Given the description of an element on the screen output the (x, y) to click on. 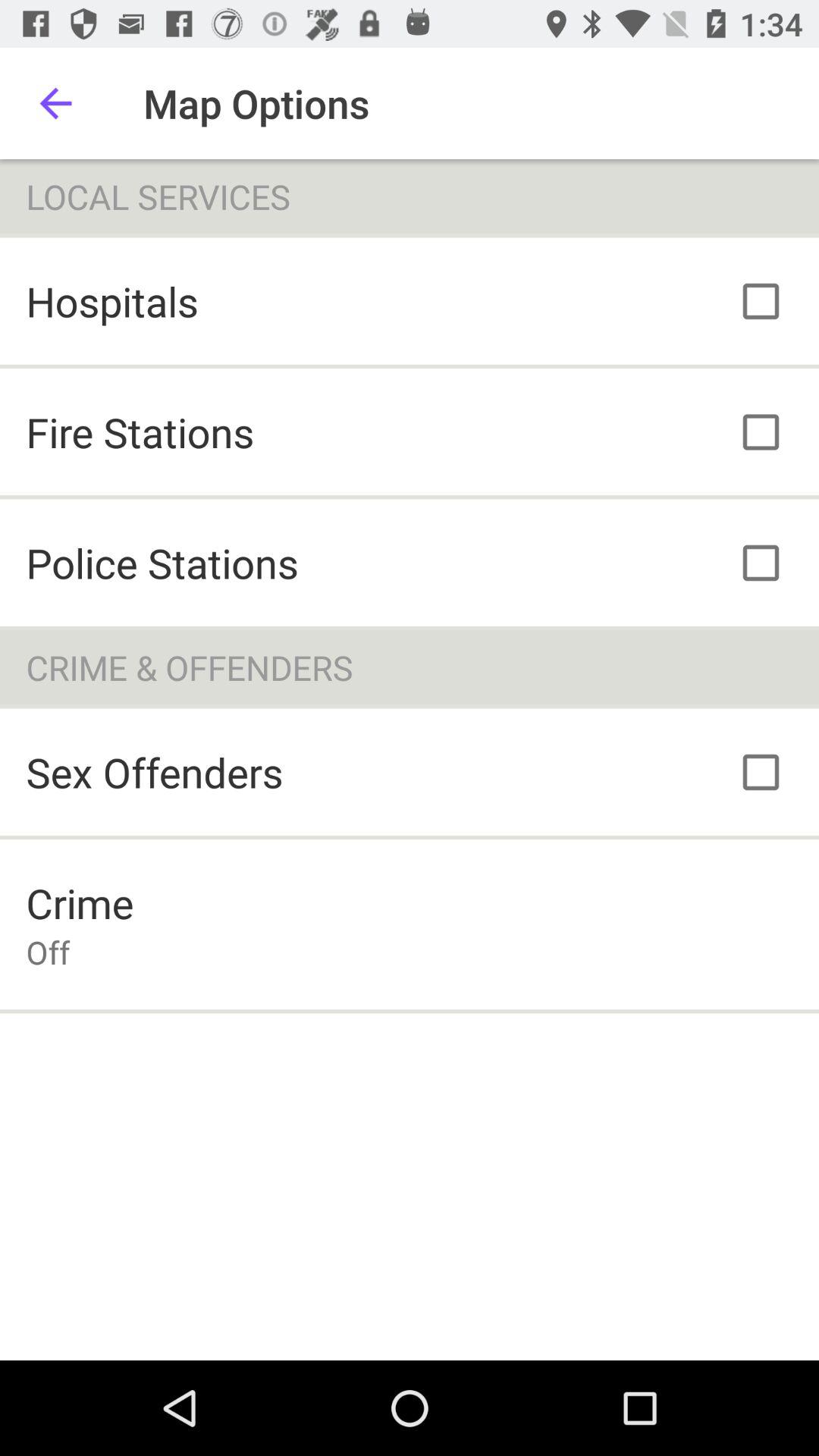
turn off item below police stations item (409, 667)
